Given the description of an element on the screen output the (x, y) to click on. 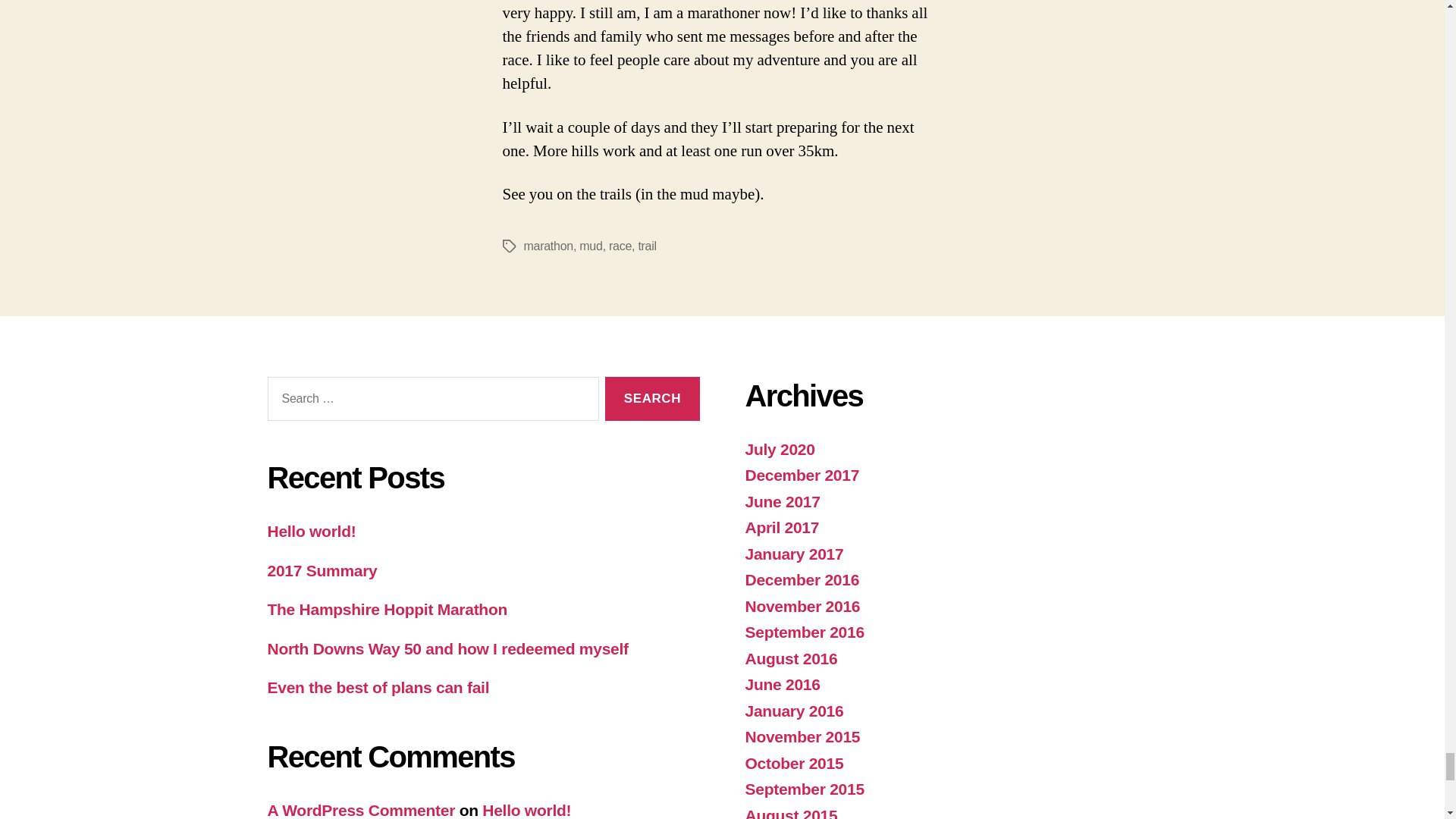
Search (651, 398)
Search (651, 398)
